Given the description of an element on the screen output the (x, y) to click on. 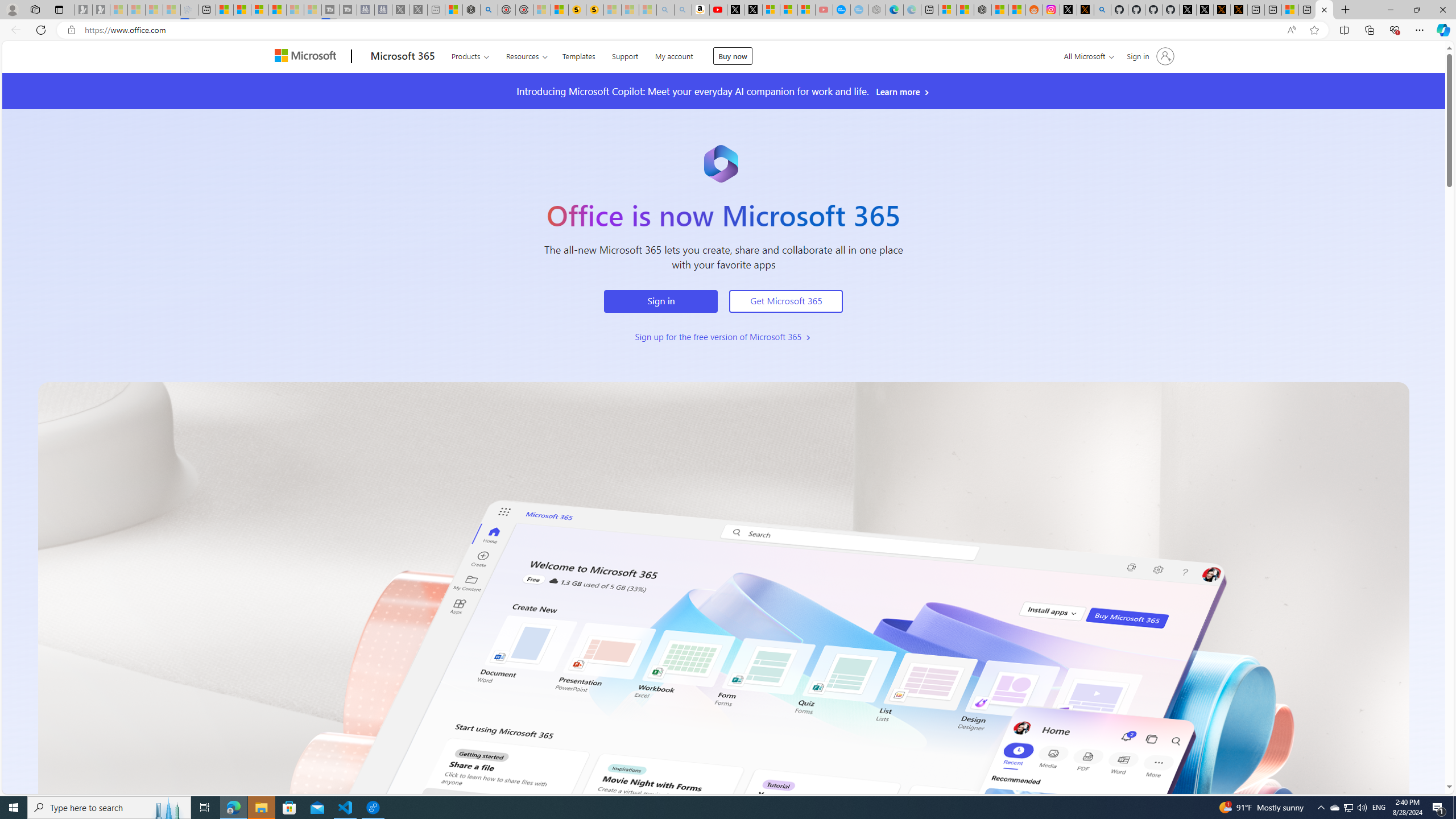
Opinion: Op-Ed and Commentary - USA TODAY (842, 9)
Streaming Coverage | T3 - Sleeping (330, 9)
X Privacy Policy (1238, 9)
poe - Search (489, 9)
